Given the description of an element on the screen output the (x, y) to click on. 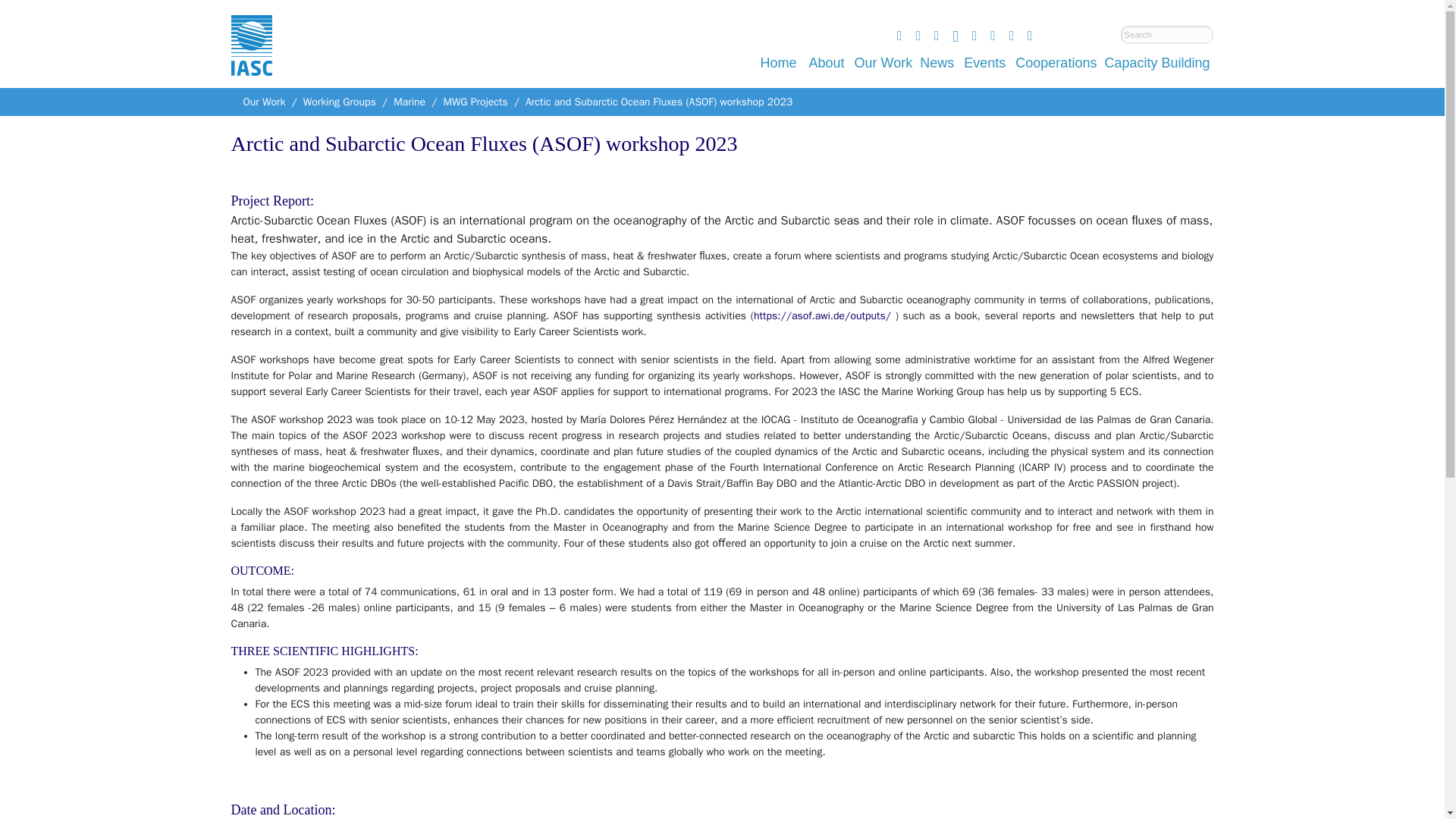
Home (778, 62)
International Arctic Science Committee (250, 61)
About (826, 62)
